Given the description of an element on the screen output the (x, y) to click on. 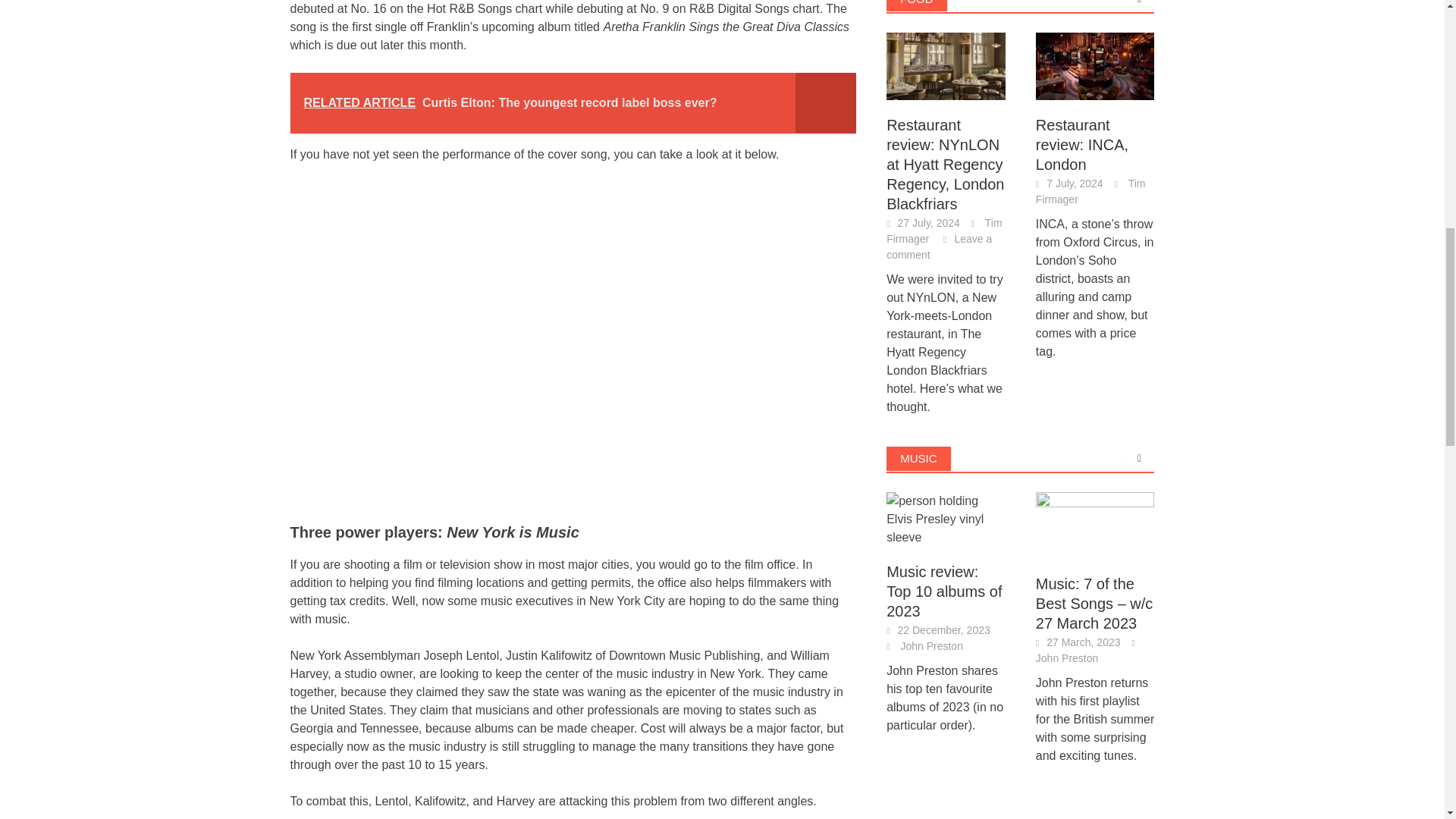
Restaurant review: INCA, London (1094, 65)
Music review: Top 10 albums of 2023 (946, 517)
Restaurant review: INCA, London (1094, 64)
